Given the description of an element on the screen output the (x, y) to click on. 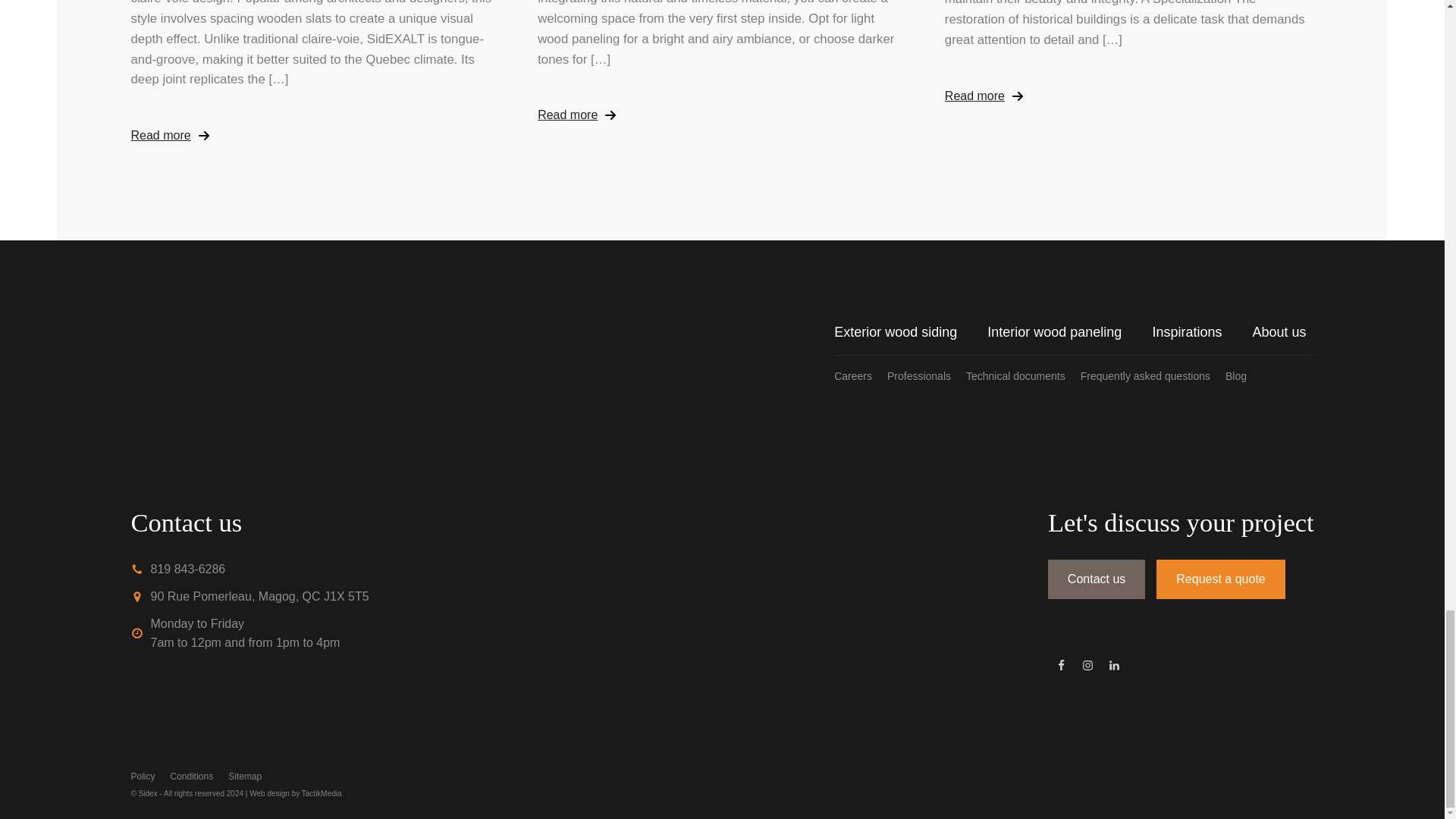
Frequently asked questions (1152, 375)
Interior wood paneling (1069, 332)
Inspirations (1201, 332)
Blog (1239, 375)
Professionals (926, 375)
About us (1282, 332)
Careers (860, 375)
Exterior wood siding (910, 332)
Technical documents (1023, 375)
